Given the description of an element on the screen output the (x, y) to click on. 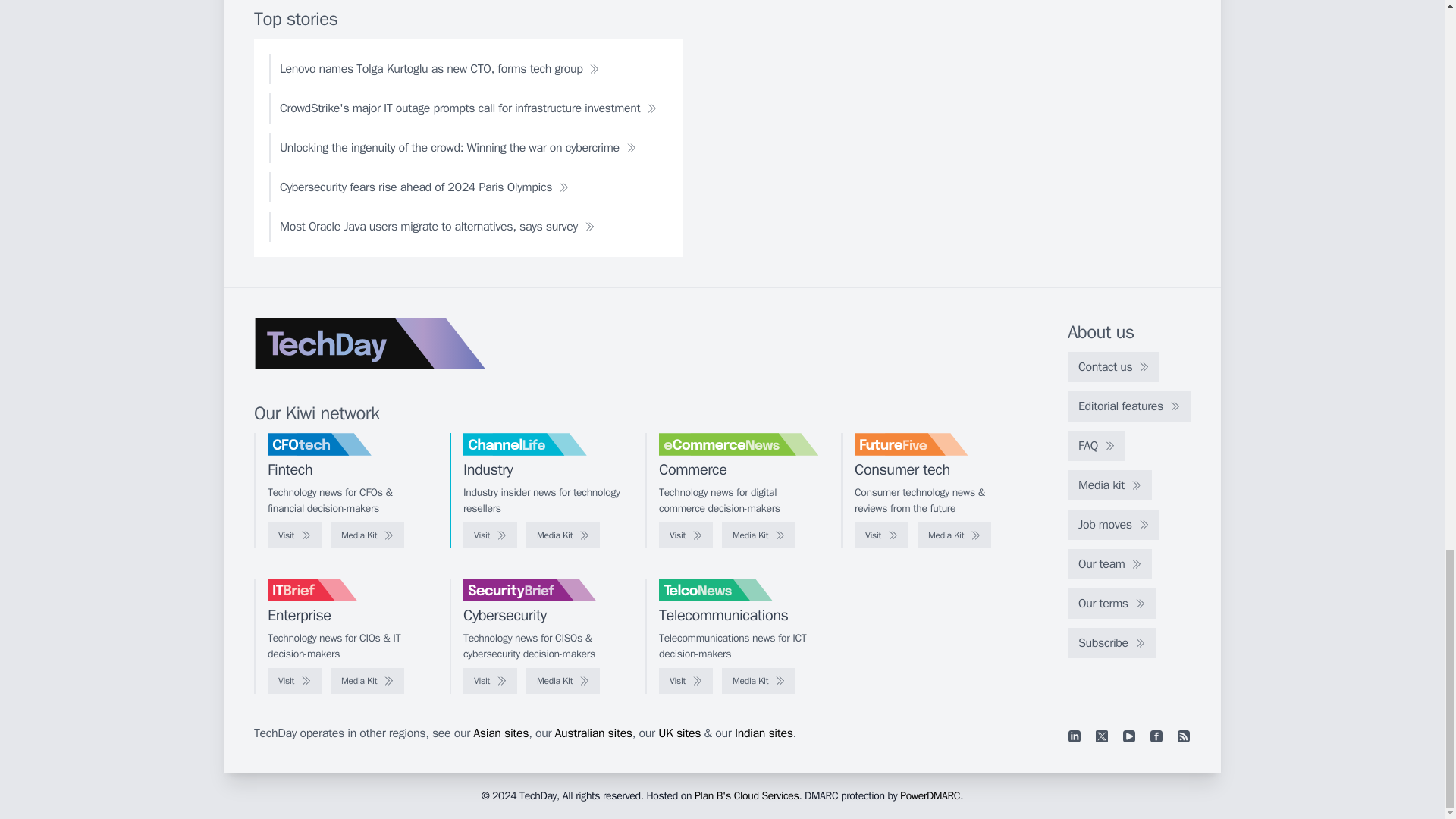
Visit (489, 680)
Most Oracle Java users migrate to alternatives, says survey (437, 226)
Media Kit (367, 680)
Visit (294, 680)
Visit (686, 534)
Media Kit (562, 534)
Cybersecurity fears rise ahead of 2024 Paris Olympics (424, 186)
Media Kit (758, 534)
Media Kit (562, 680)
Lenovo names Tolga Kurtoglu as new CTO, forms tech group (439, 69)
Visit (489, 534)
Media Kit (367, 534)
Visit (881, 534)
